Given the description of an element on the screen output the (x, y) to click on. 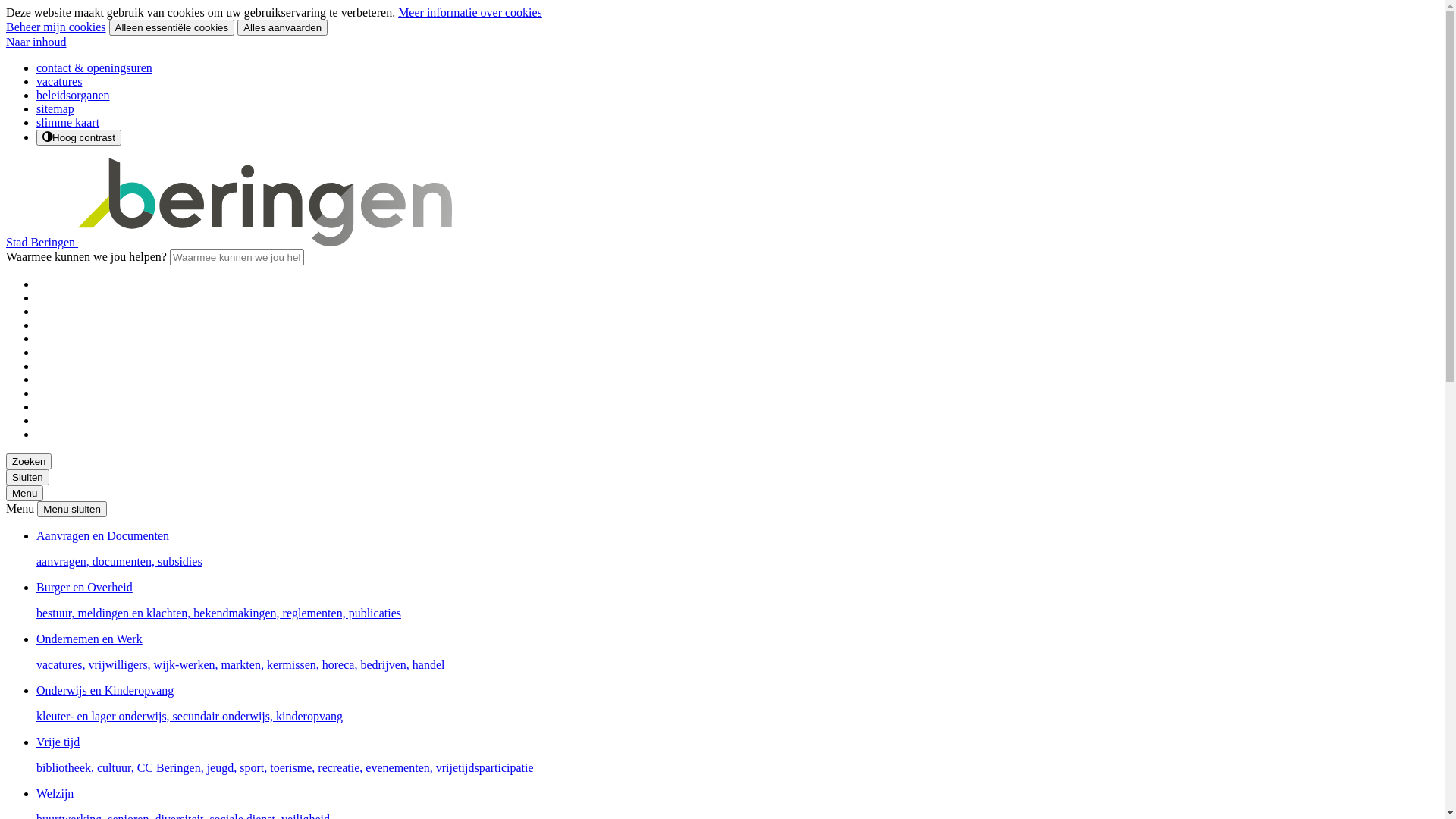
Zoeken Element type: text (28, 461)
Naar inhoud Element type: text (36, 41)
Sluiten Element type: text (27, 477)
Meer informatie over cookies Element type: text (470, 12)
Menu sluiten Element type: text (71, 509)
Hoog contrast Element type: text (78, 137)
sitemap Element type: text (55, 108)
Menu Element type: text (24, 493)
Aanvragen en Documenten
aanvragen, documenten, subsidies Element type: text (737, 548)
slimme kaart Element type: text (67, 122)
contact & openingsuren Element type: text (94, 67)
vacatures Element type: text (58, 81)
Alles aanvaarden Element type: text (282, 27)
Stad Beringen Element type: text (228, 241)
Beheer mijn cookies Element type: text (56, 26)
beleidsorganen Element type: text (72, 94)
